Given the description of an element on the screen output the (x, y) to click on. 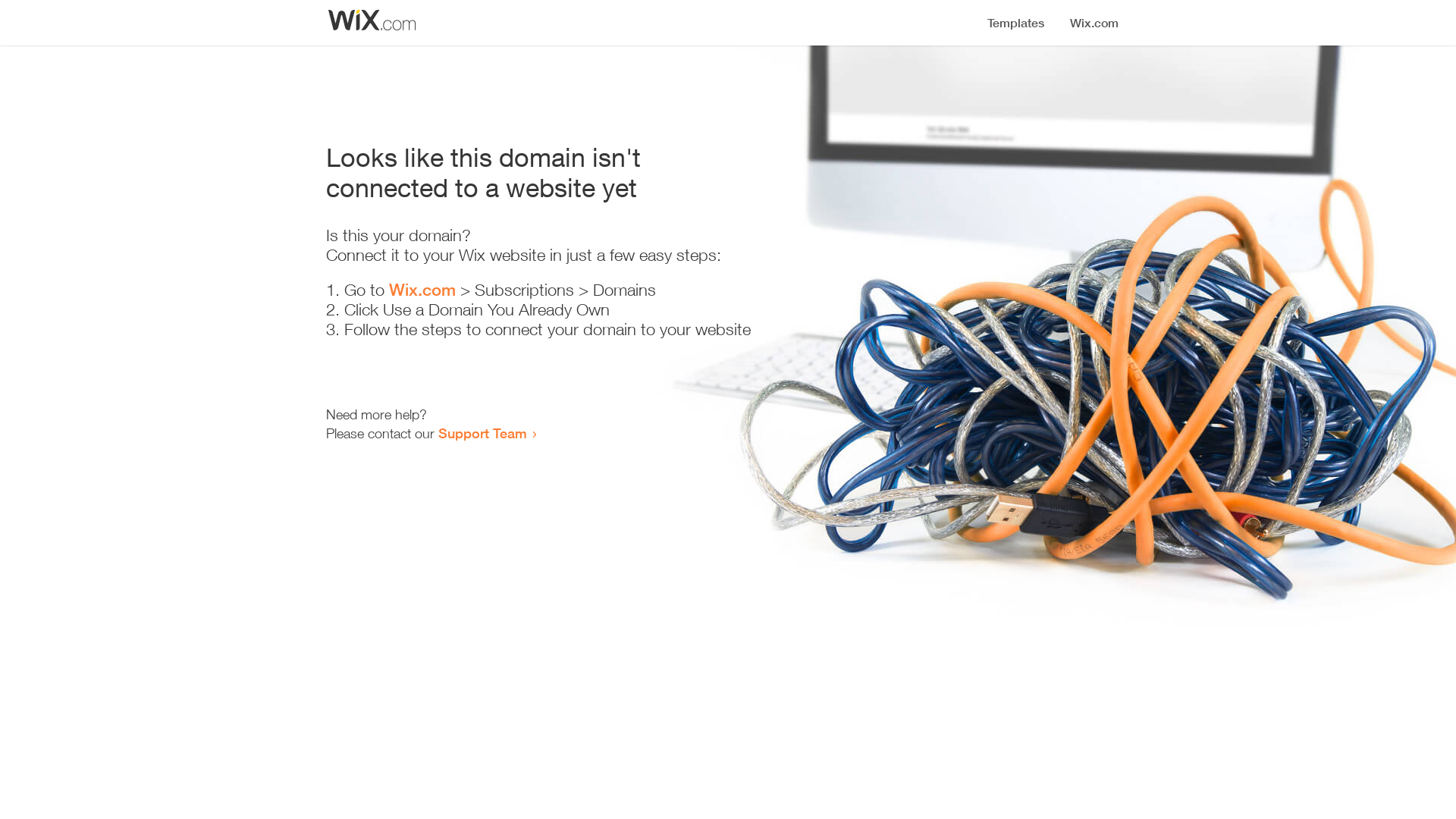
Wix.com Element type: text (422, 289)
Support Team Element type: text (482, 432)
